Given the description of an element on the screen output the (x, y) to click on. 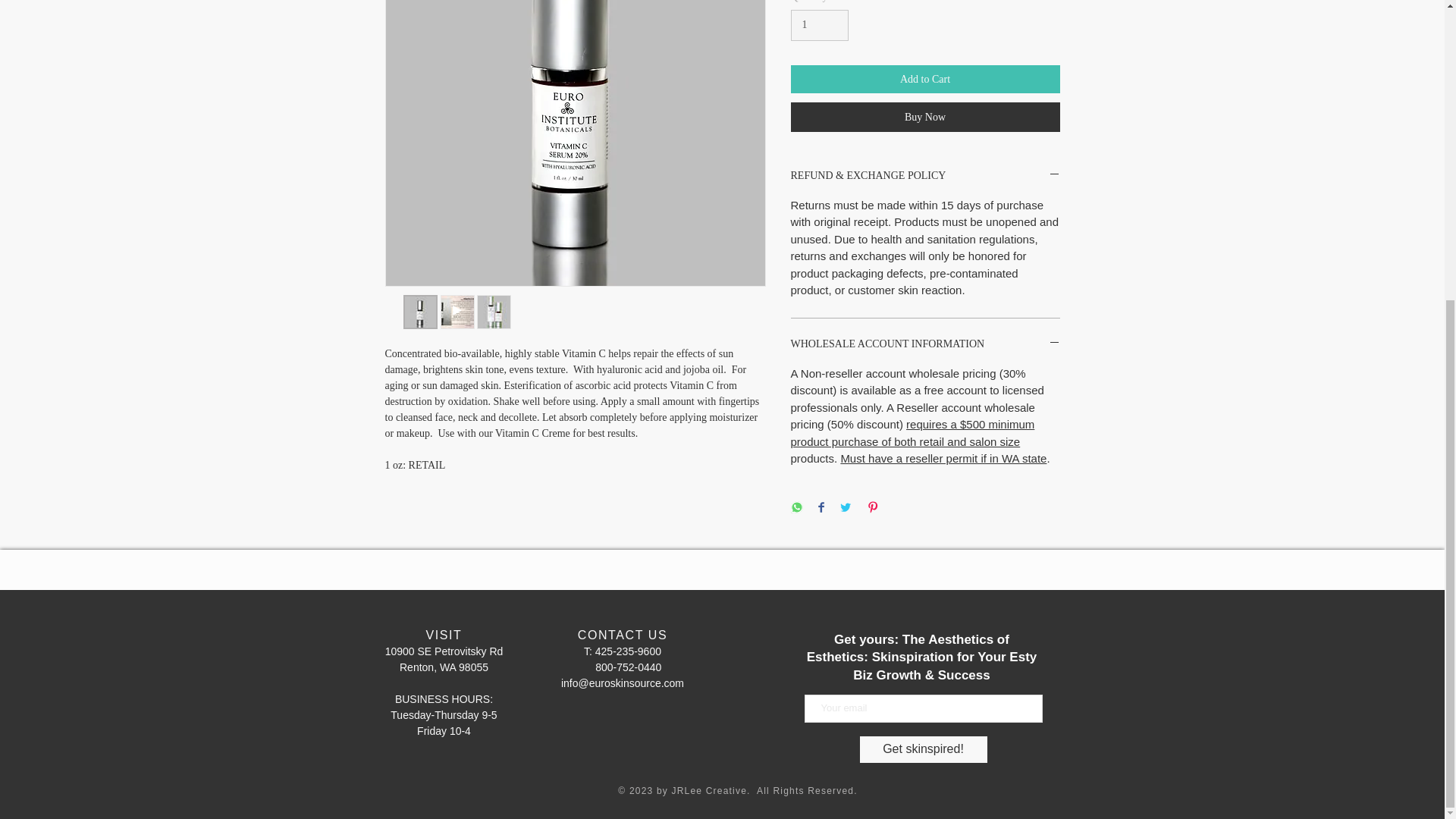
Buy Now (924, 117)
WHOLESALE ACCOUNT INFORMATION (924, 344)
Add to Cart (924, 79)
Get skinspired! (923, 749)
1 (818, 24)
